Given the description of an element on the screen output the (x, y) to click on. 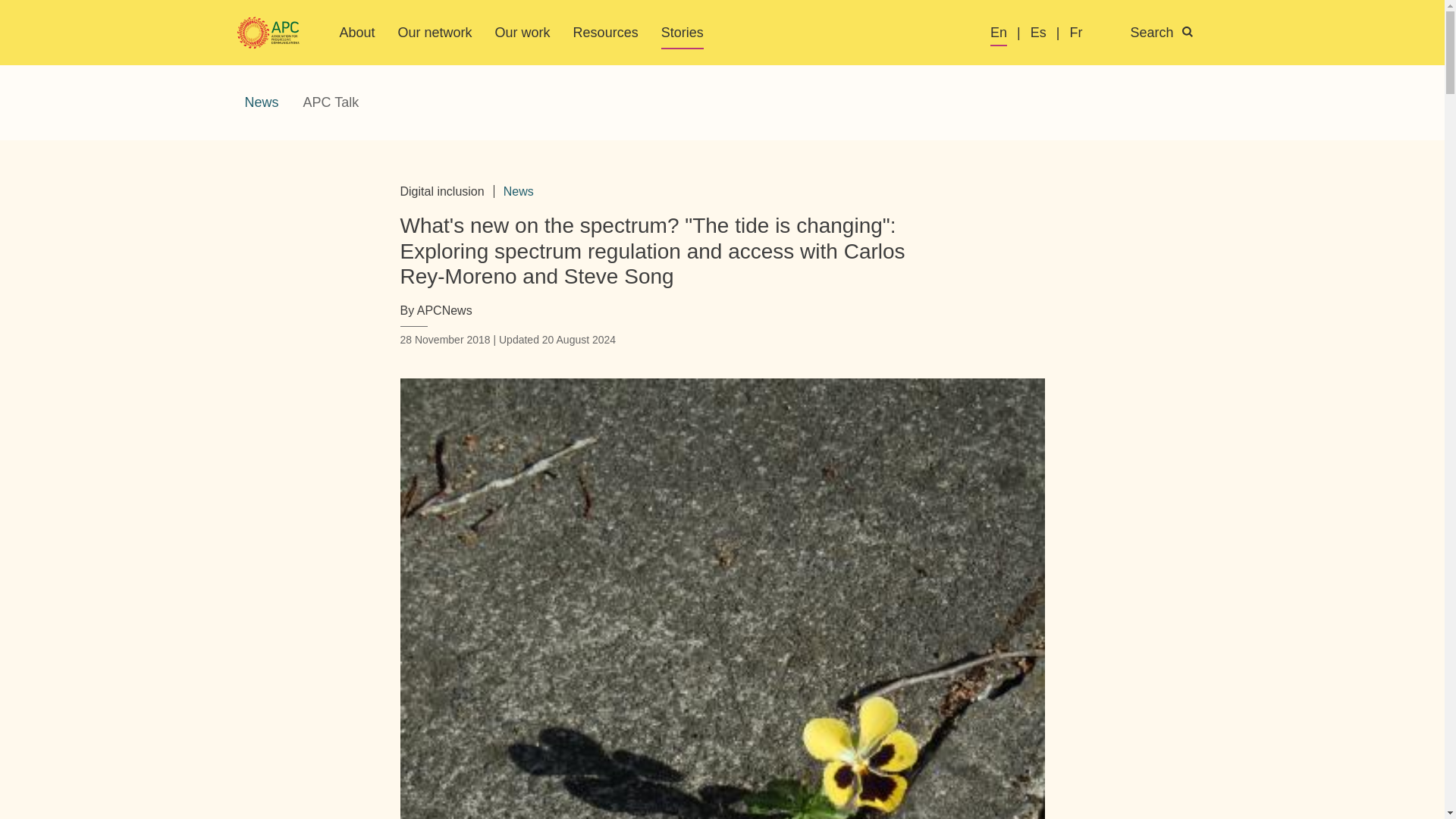
News (260, 102)
Tuesday, August 20, 2024 - 16:52 (578, 339)
Home (267, 32)
Resources (606, 32)
Our network (434, 32)
About (357, 32)
Association for Progressive Communications (267, 32)
News (518, 191)
APC Talk (331, 102)
language switcher content (1101, 32)
